Given the description of an element on the screen output the (x, y) to click on. 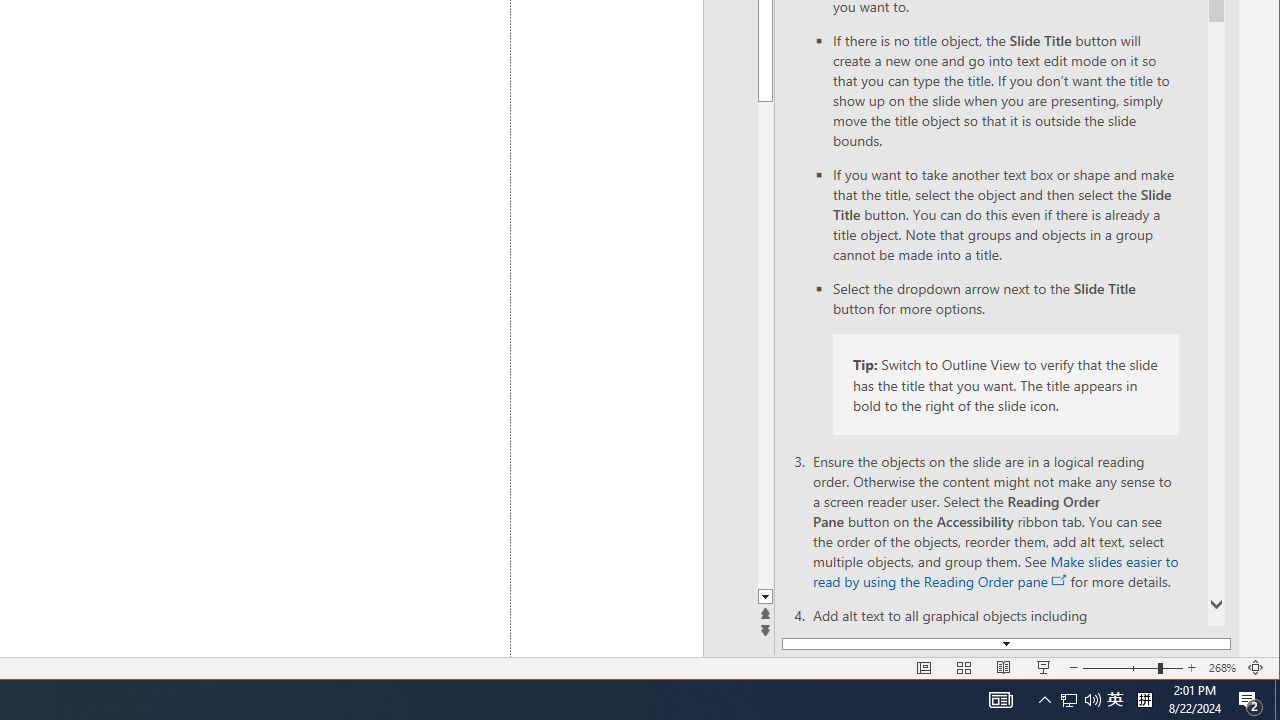
openinnewwindow (1059, 580)
